Given the description of an element on the screen output the (x, y) to click on. 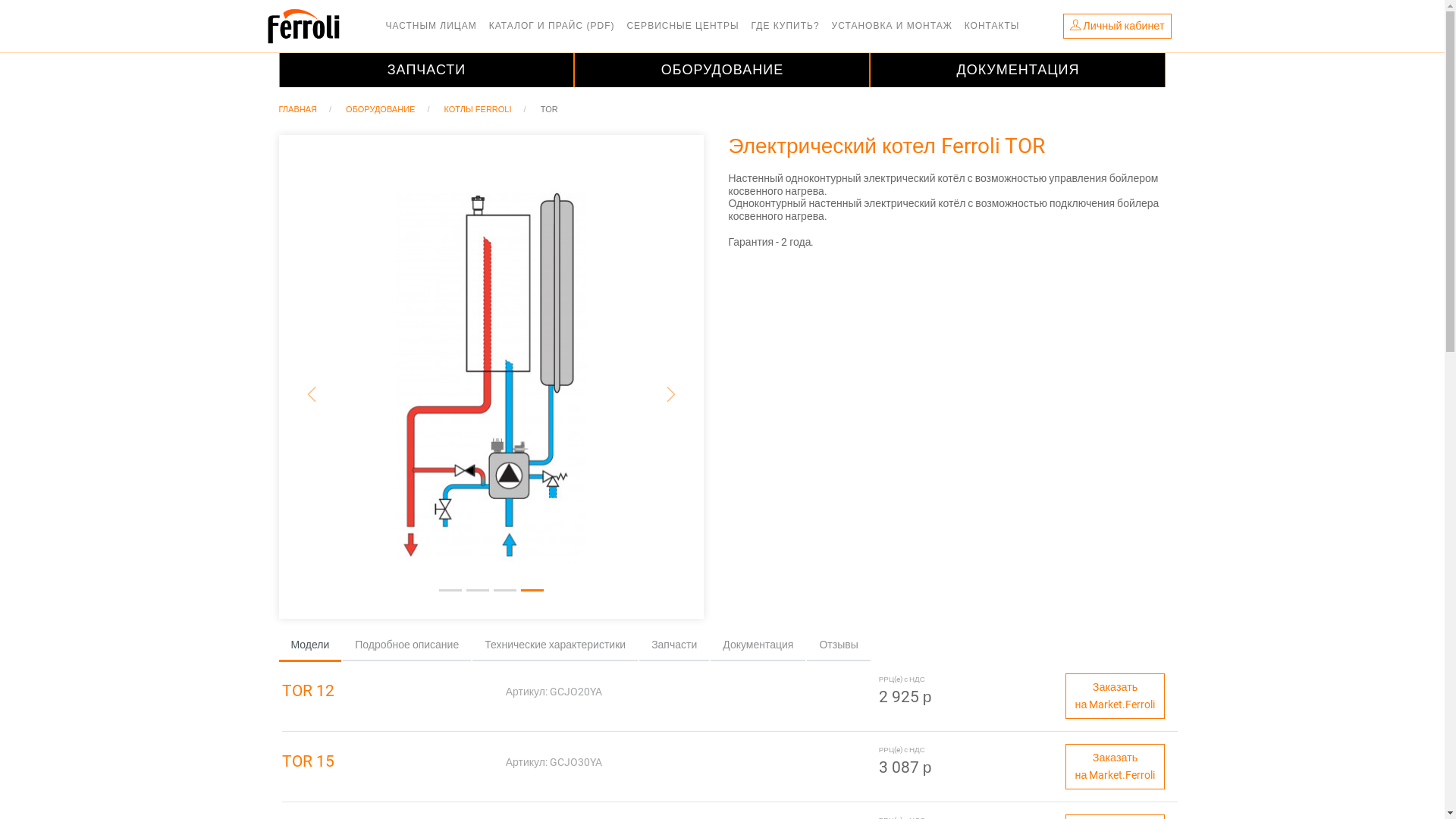
TOR 12 Element type: text (388, 691)
TOR 15 Element type: text (388, 761)
